Given the description of an element on the screen output the (x, y) to click on. 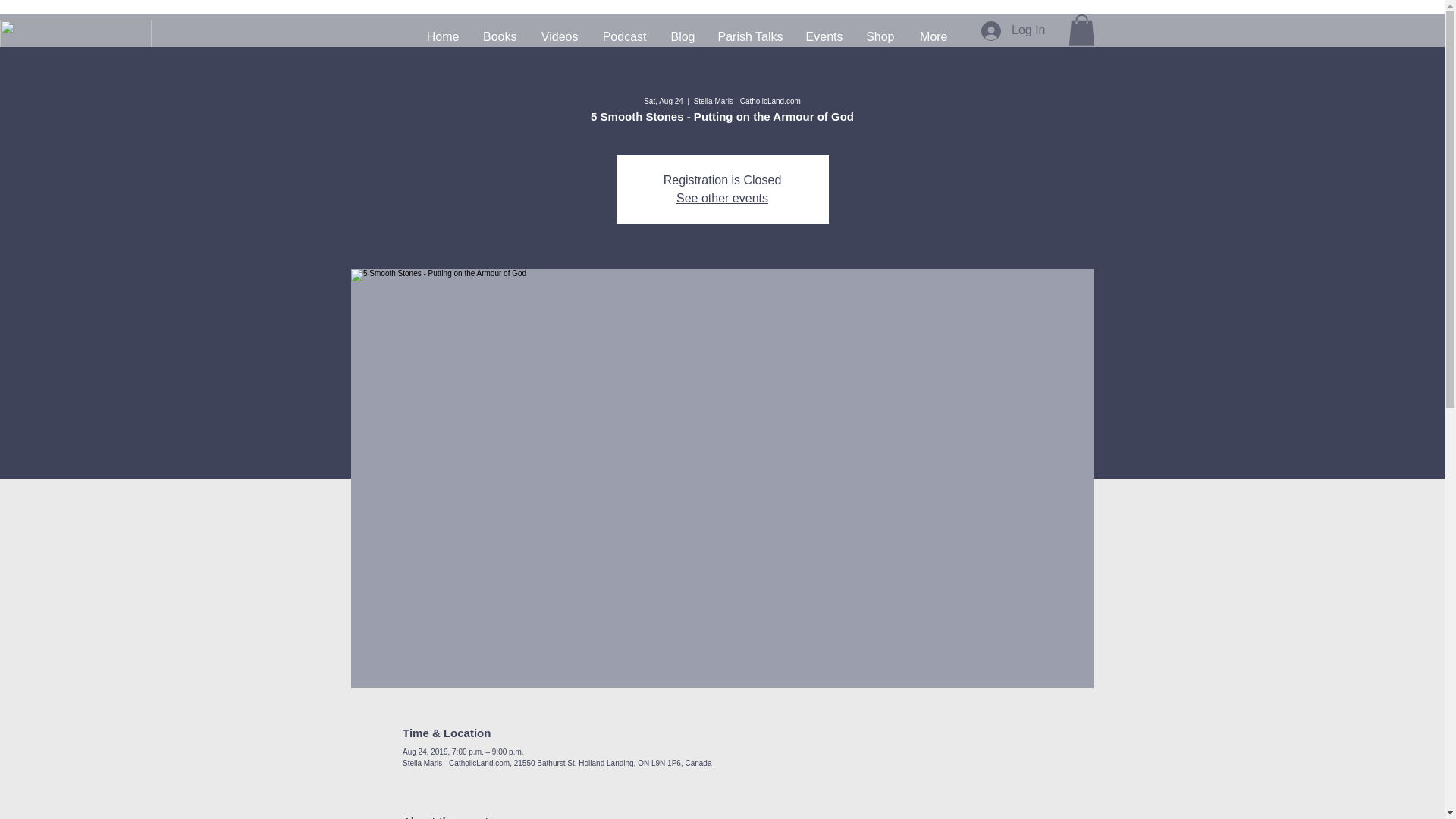
Home (441, 37)
Log In (1013, 30)
Videos (558, 37)
See other events (722, 197)
Shop (879, 37)
Books (498, 37)
Parish Talks (750, 37)
Events (824, 37)
Blog (682, 37)
Podcast (623, 37)
